Given the description of an element on the screen output the (x, y) to click on. 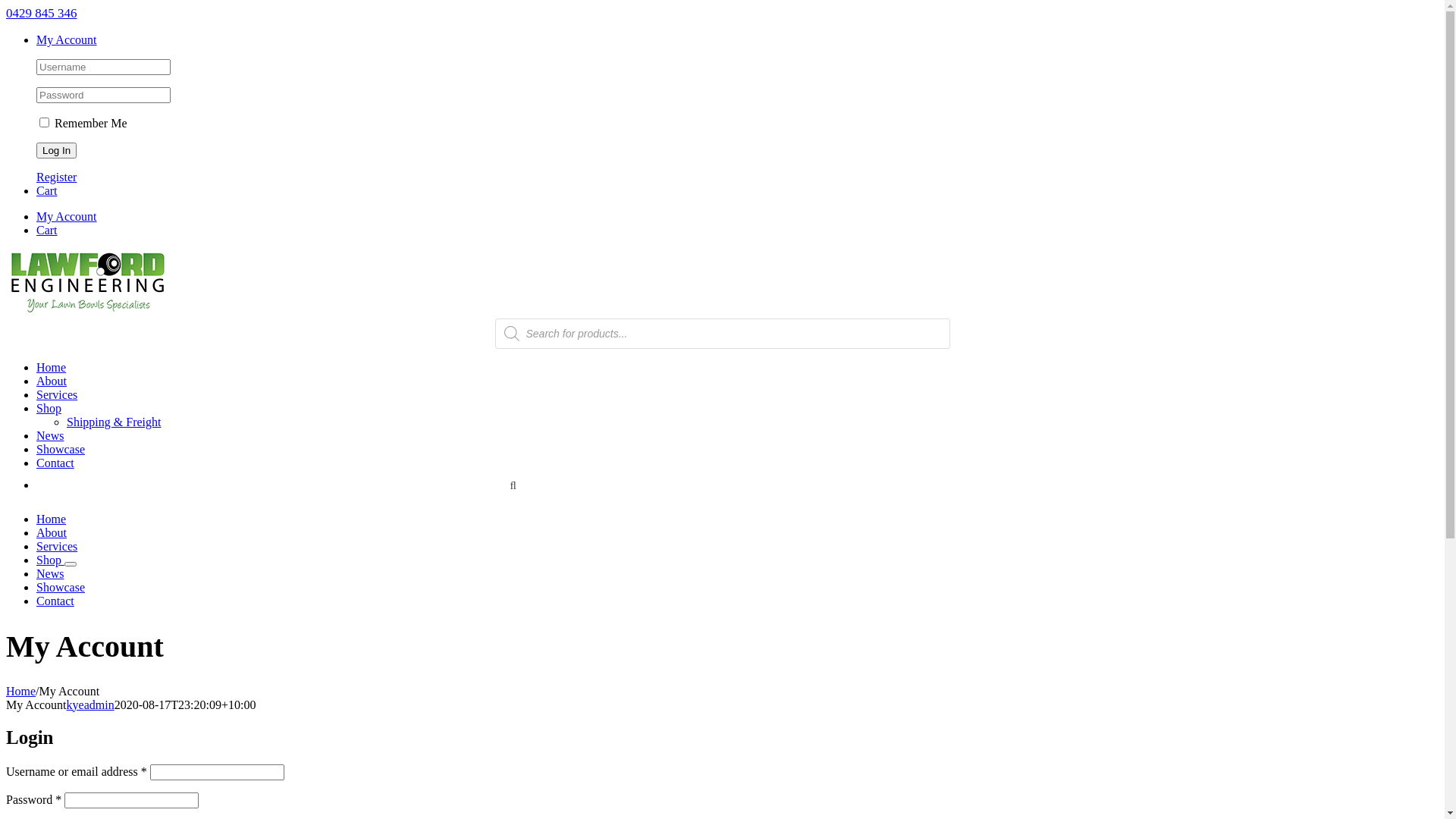
Services Element type: text (56, 545)
Showcase Element type: text (60, 586)
Log In Element type: text (56, 150)
Cart Element type: text (46, 190)
Showcase Element type: text (60, 448)
About Element type: text (51, 380)
My Account Element type: text (66, 216)
Home Element type: text (50, 366)
About Element type: text (51, 532)
Register Element type: text (56, 176)
Contact Element type: text (55, 600)
News Element type: text (49, 435)
My Account Element type: text (66, 39)
Skip to content Element type: text (5, 5)
kyeadmin Element type: text (90, 704)
Shipping & Freight Element type: text (113, 421)
0429 845 346 Element type: text (41, 13)
News Element type: text (49, 573)
Shop Element type: text (50, 559)
Home Element type: text (20, 690)
Cart Element type: text (46, 229)
Services Element type: text (56, 394)
Shop Element type: text (48, 407)
Home Element type: text (50, 518)
Contact Element type: text (55, 462)
